Given the description of an element on the screen output the (x, y) to click on. 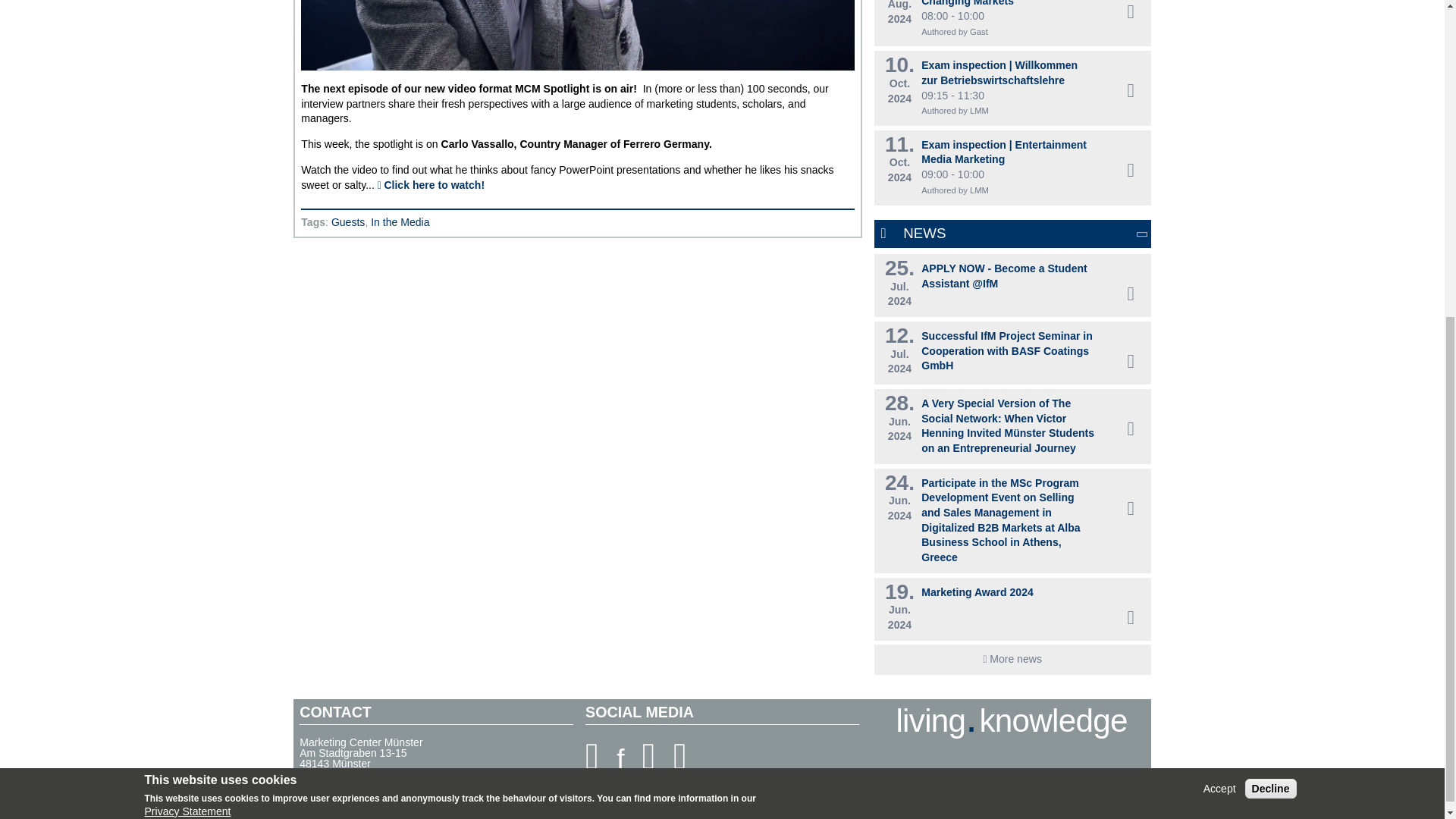
In the Media (400, 222)
Guests (899, 12)
Click here to watch! (348, 222)
